Given the description of an element on the screen output the (x, y) to click on. 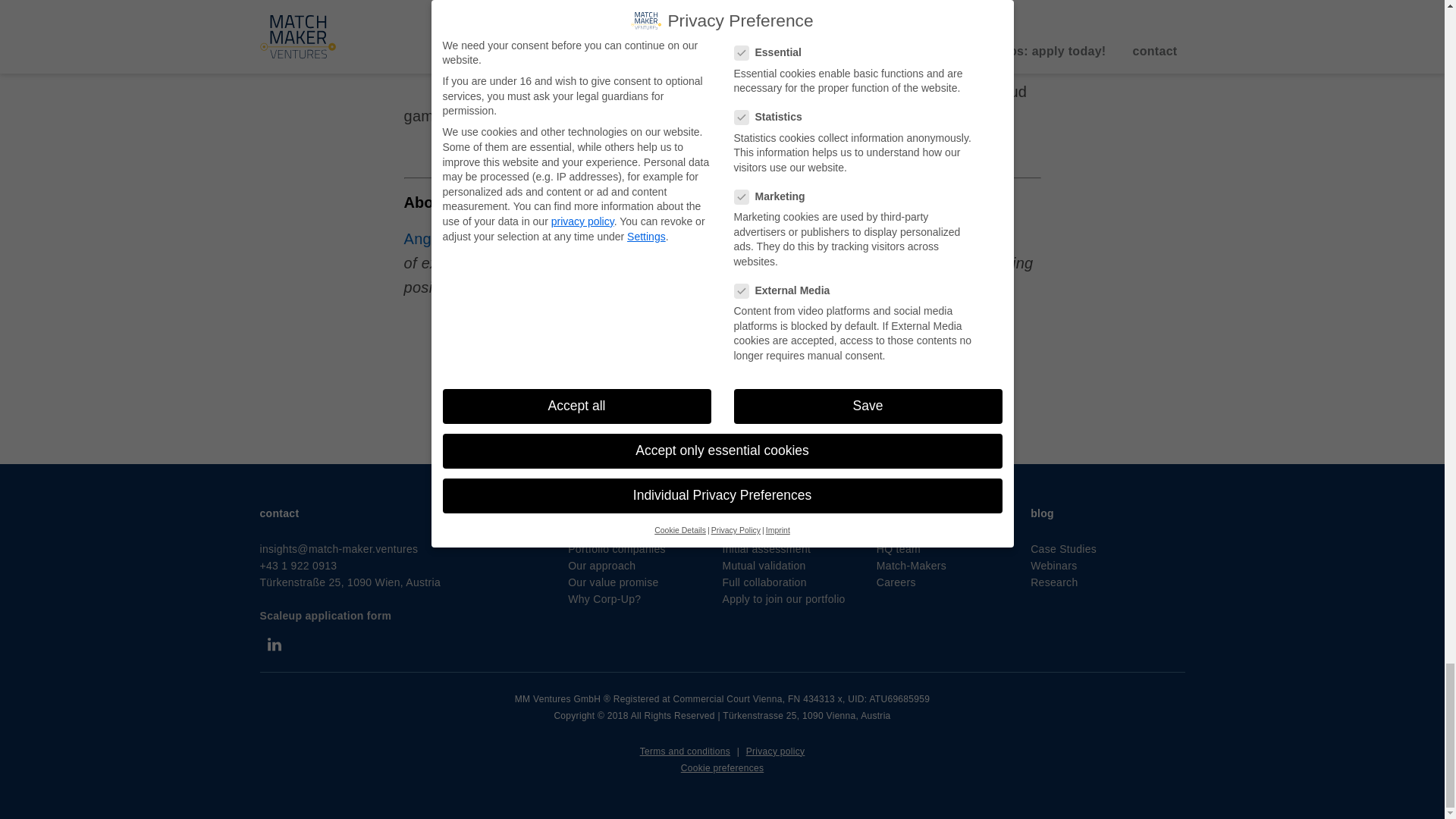
Angel (423, 238)
contact (278, 512)
Scaleup application form (325, 615)
Our approach (600, 565)
for corporations (610, 512)
Our value promise (612, 582)
Portfolio companies (616, 548)
